Given the description of an element on the screen output the (x, y) to click on. 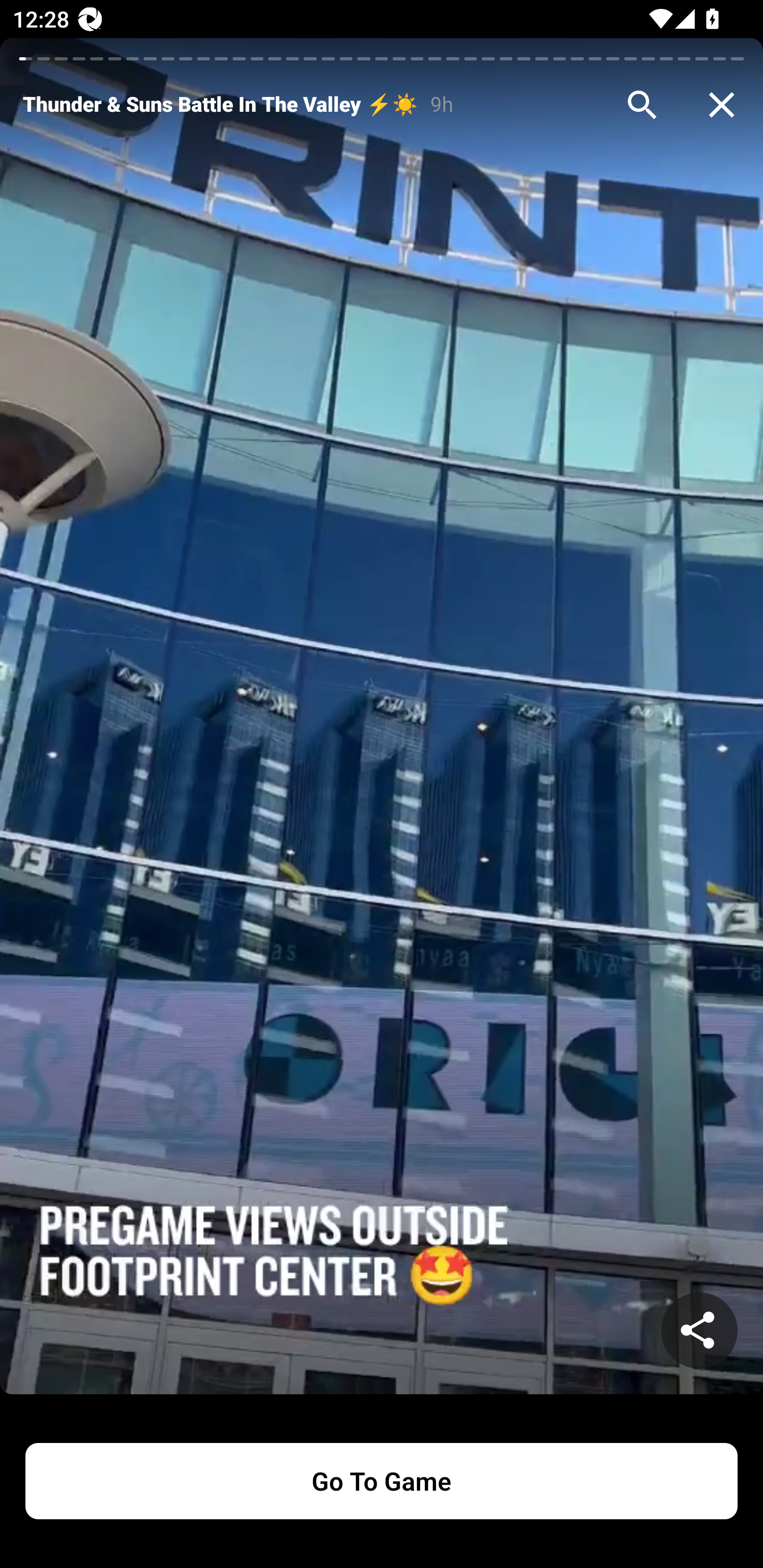
search (642, 104)
close (721, 104)
share (699, 1330)
Go To Game (381, 1480)
